Given the description of an element on the screen output the (x, y) to click on. 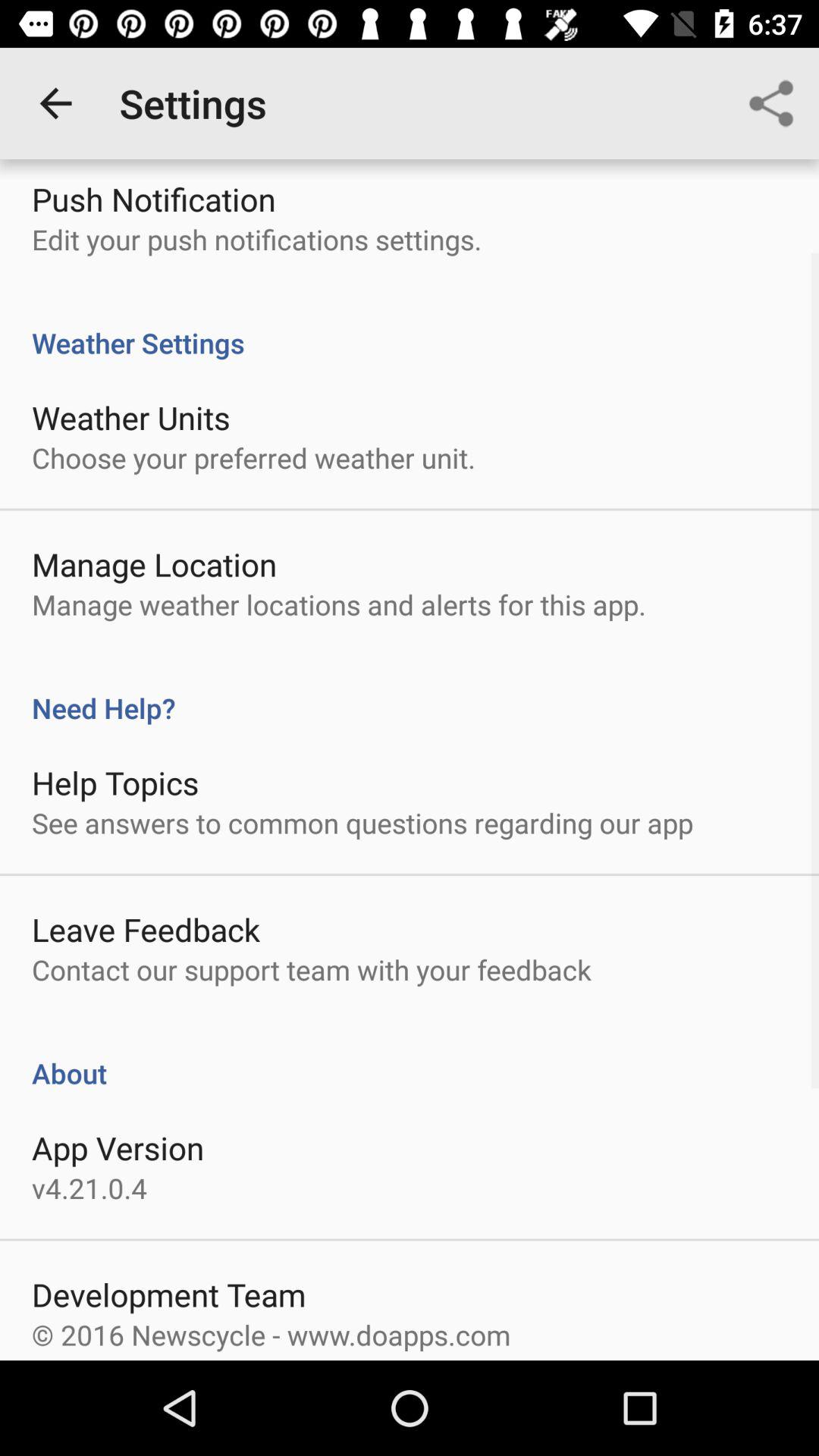
jump until the need help? (409, 691)
